Given the description of an element on the screen output the (x, y) to click on. 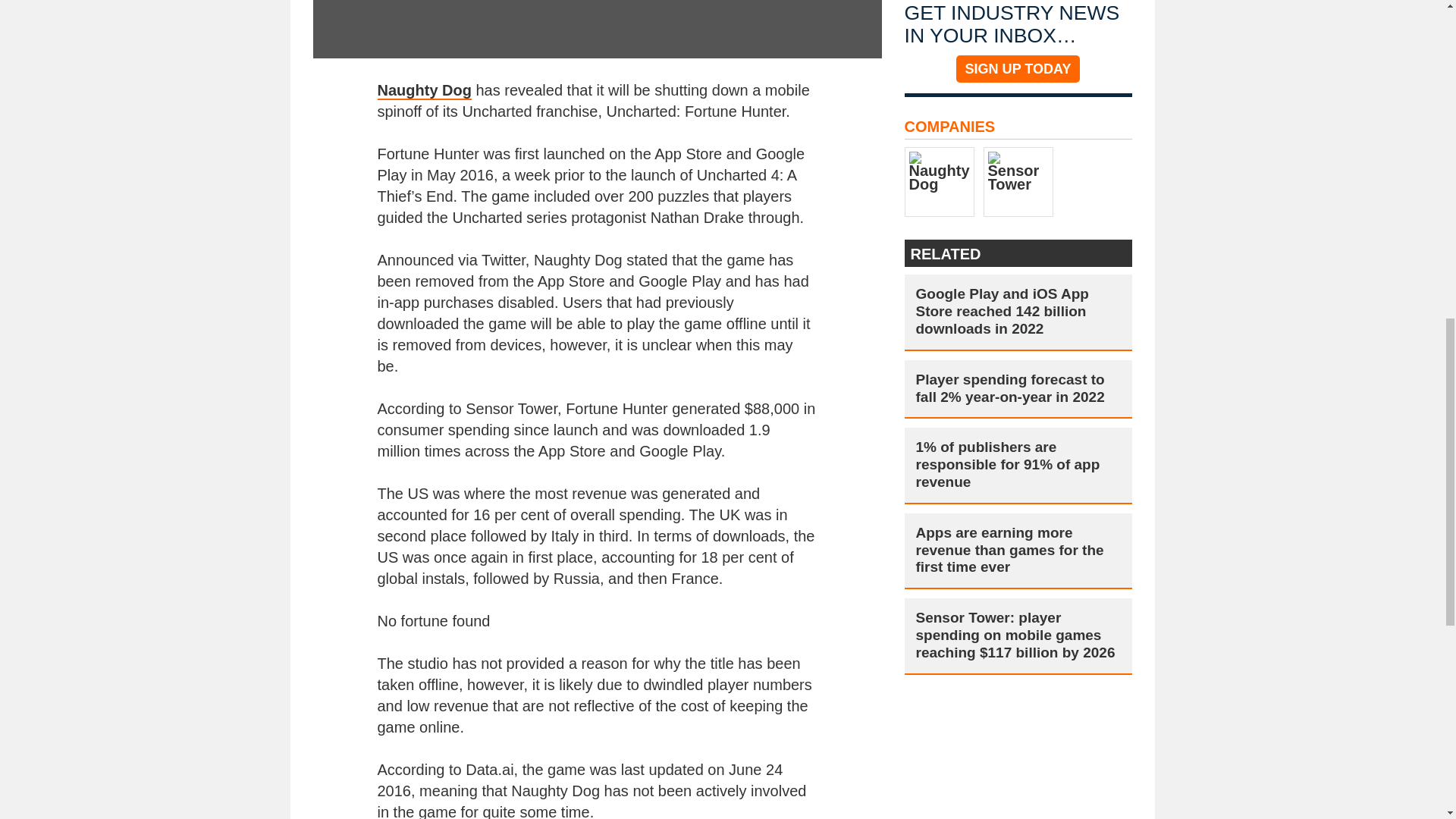
Naughty Dog (424, 90)
